Given the description of an element on the screen output the (x, y) to click on. 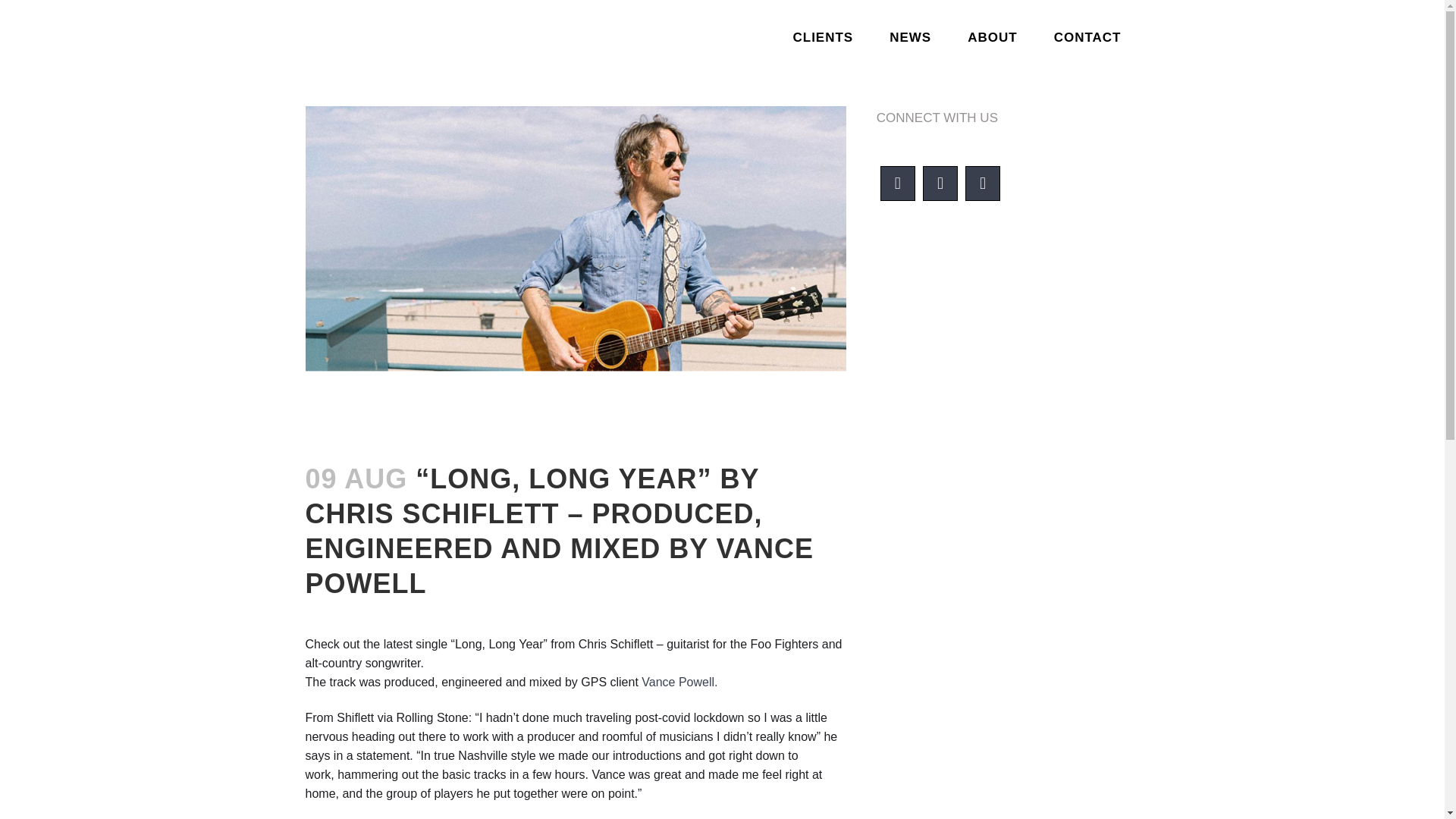
ABOUT (992, 38)
CONTACT (1087, 38)
Vance Powell. (679, 681)
NEWS (909, 38)
CLIENTS (822, 38)
